Given the description of an element on the screen output the (x, y) to click on. 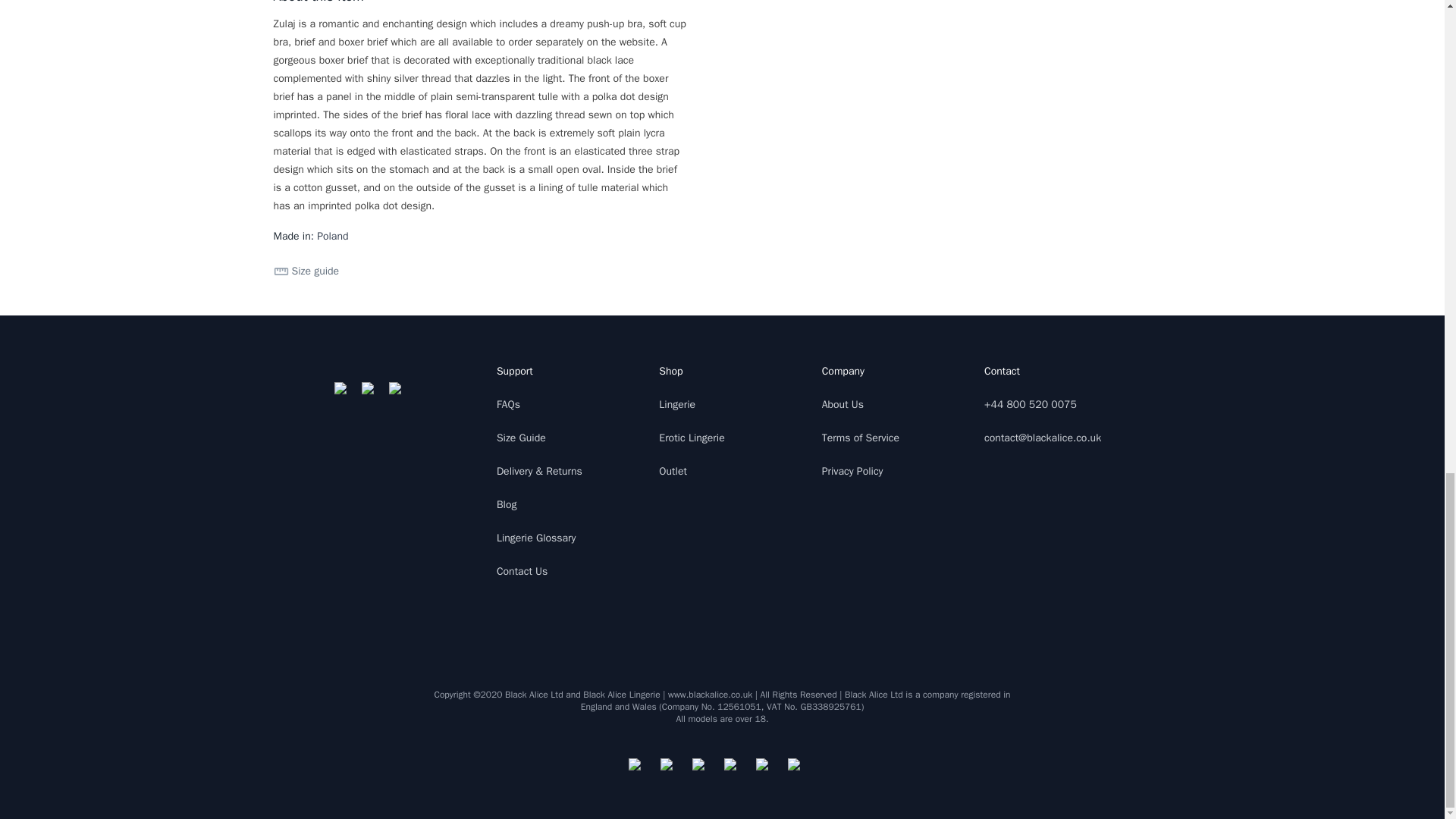
FAQs (507, 404)
Size guide (306, 271)
Size Guide (521, 437)
